Given the description of an element on the screen output the (x, y) to click on. 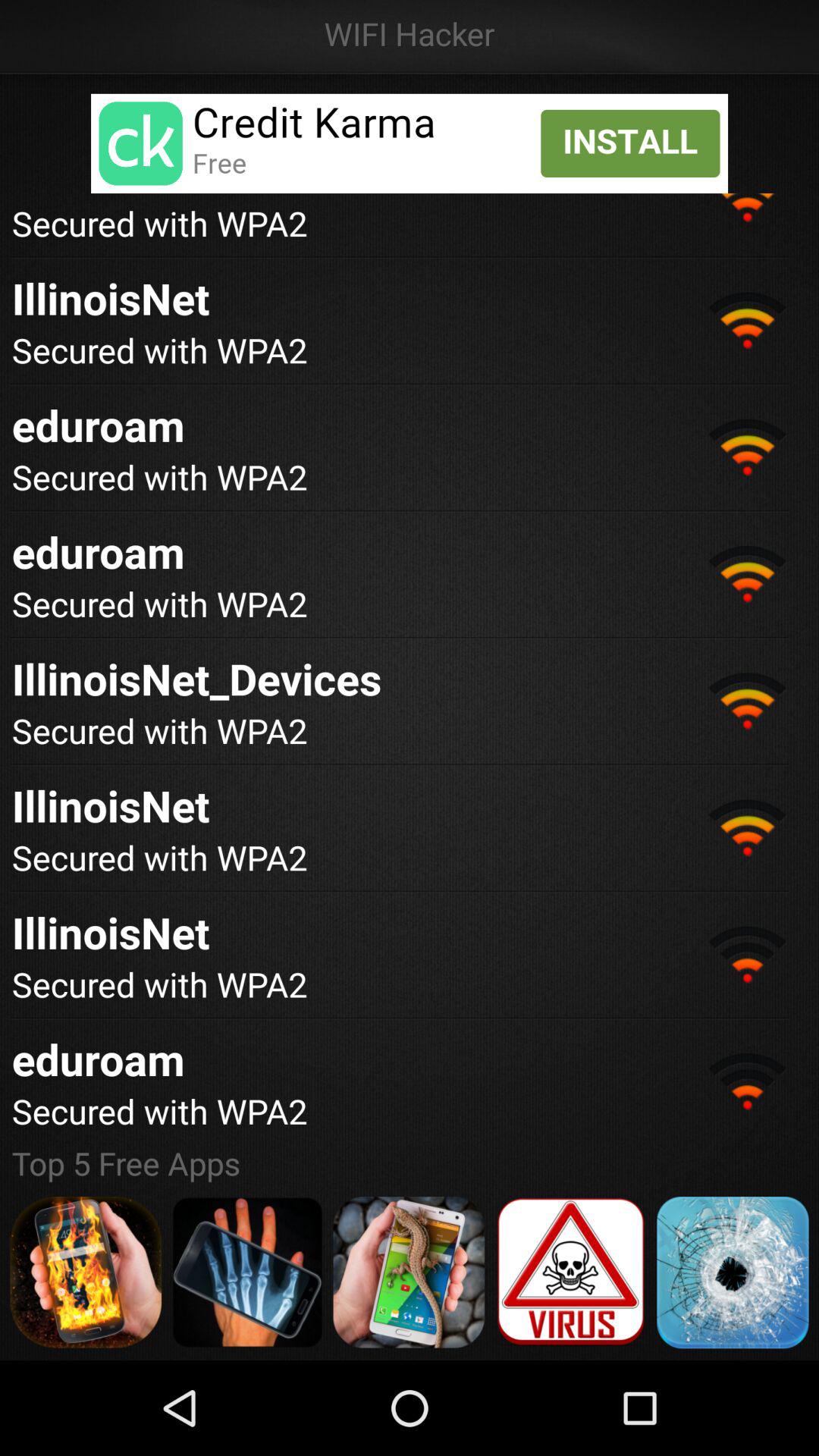
select virus advertisement (570, 1272)
